Given the description of an element on the screen output the (x, y) to click on. 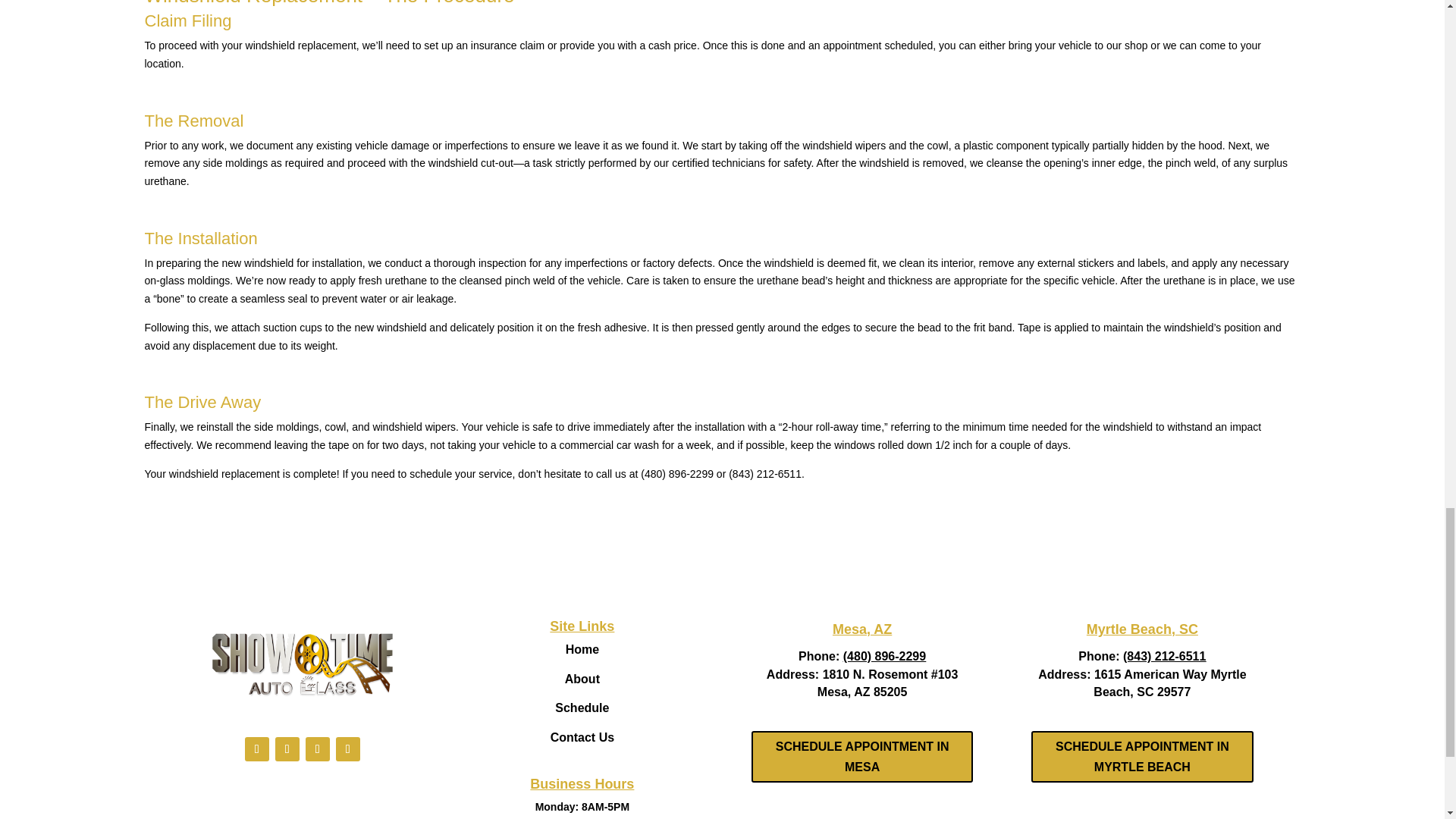
Follow on X (287, 749)
Follow on Youtube (347, 749)
ShowTime Auto Glass Logo (301, 663)
Follow on Facebook (256, 749)
Home (582, 649)
Schedule (581, 707)
Follow on Instagram (317, 749)
SCHEDULE APPOINTMENT IN MESA (861, 756)
Contact Us (582, 737)
SCHEDULE APPOINTMENT IN MYRTLE BEACH (1141, 756)
